Given the description of an element on the screen output the (x, y) to click on. 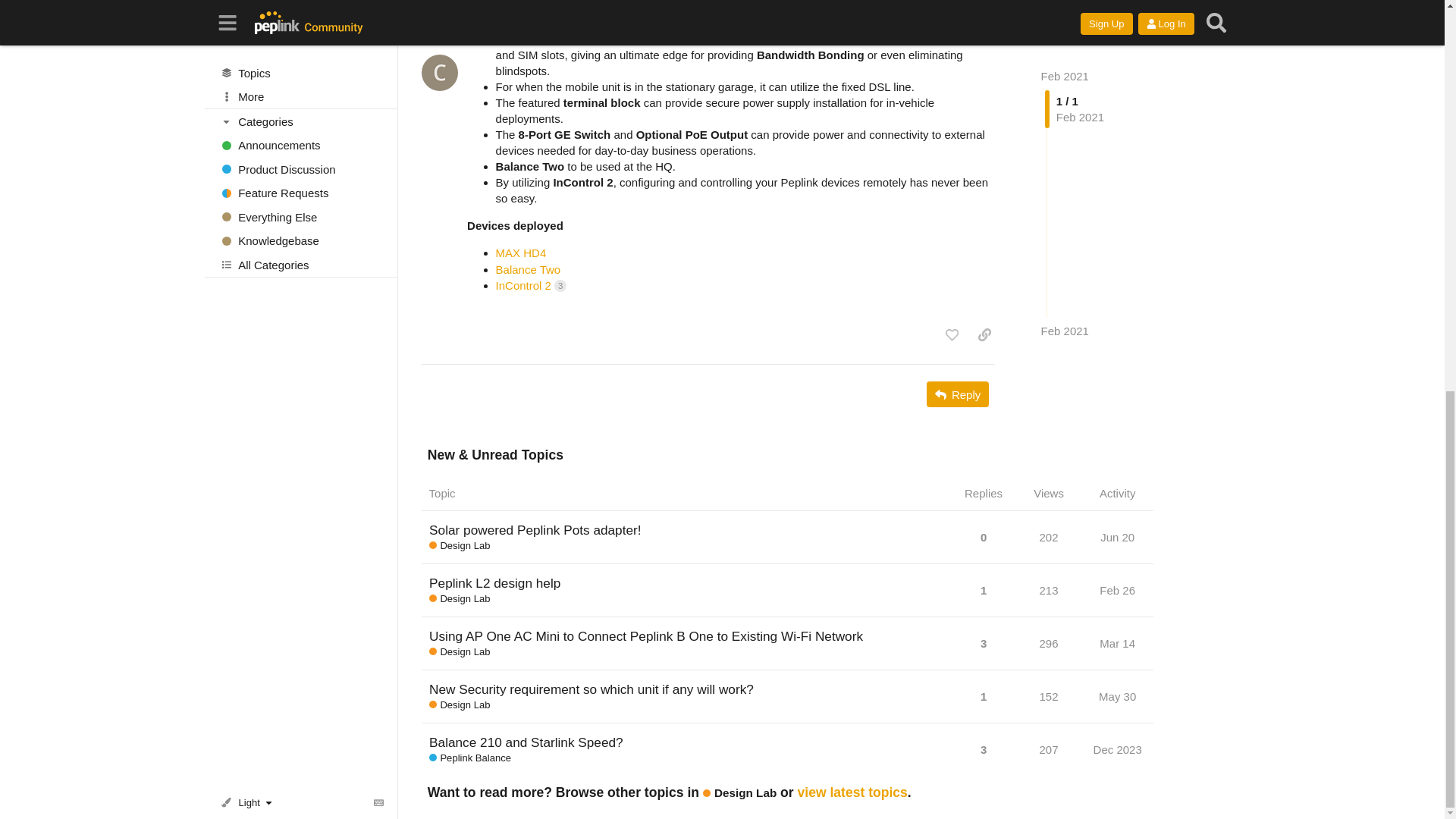
Light (249, 55)
Balance Two (528, 269)
Reply (957, 394)
MAX HD4 (521, 252)
Keyboard Shortcuts (378, 55)
InControl 2 3 (531, 285)
